Given the description of an element on the screen output the (x, y) to click on. 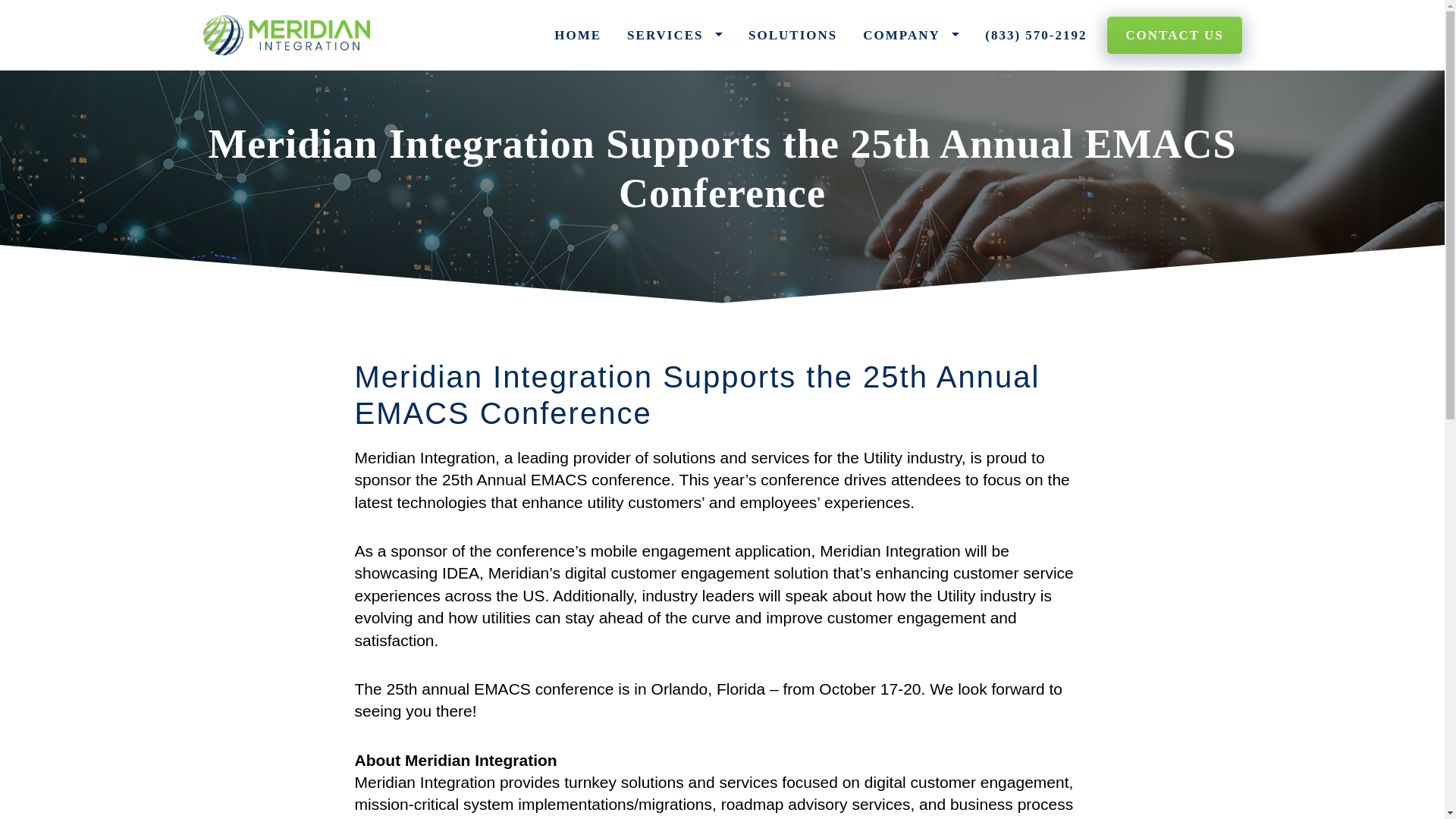
SOLUTIONS (792, 35)
CONTACT US (1173, 35)
HOME (577, 35)
Meridian Integration (286, 35)
SERVICES (674, 35)
COMPANY (911, 35)
